Given the description of an element on the screen output the (x, y) to click on. 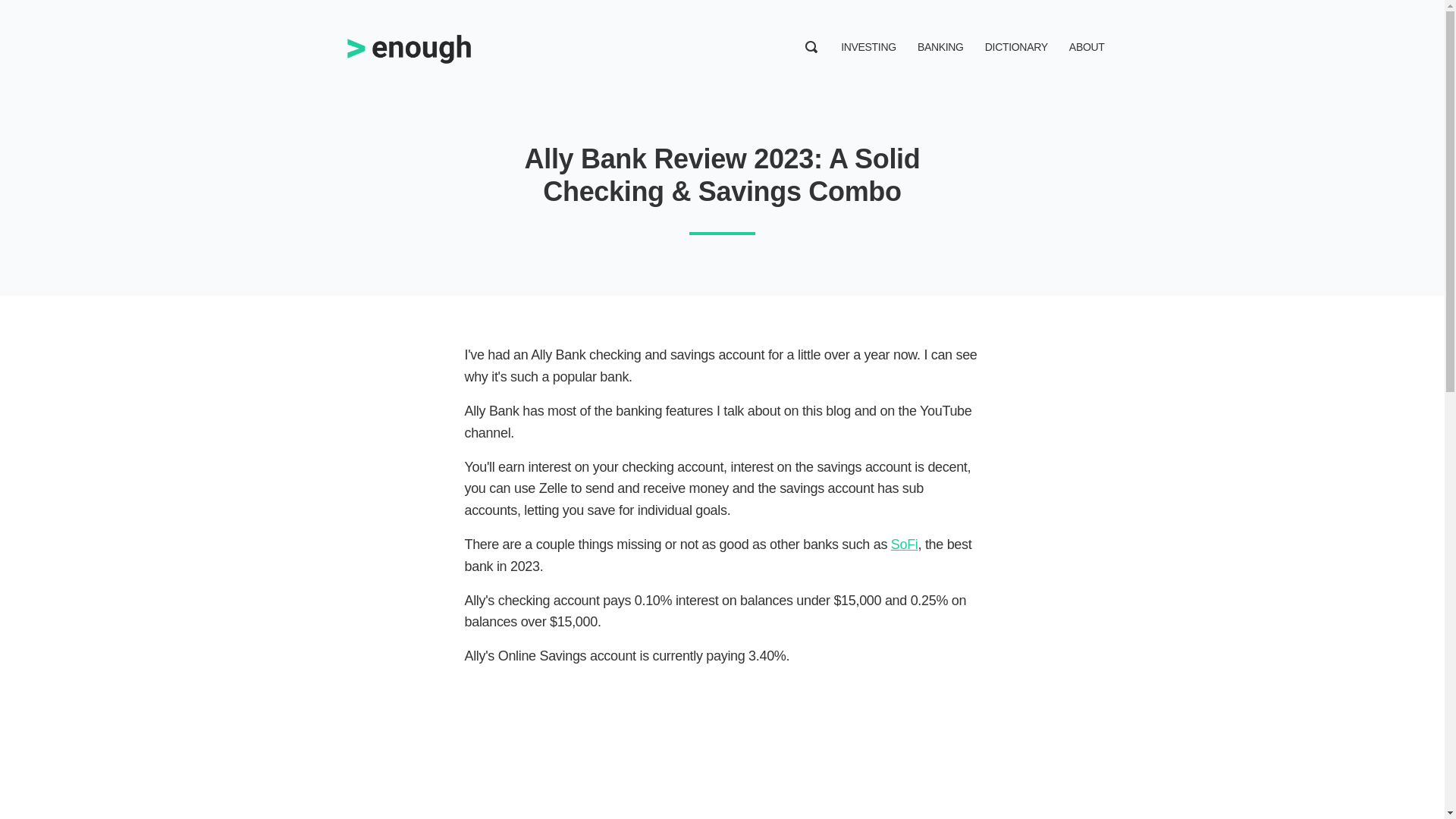
ABOUT (1086, 47)
DICTIONARY (1016, 47)
BANKING (940, 47)
SoFi (904, 544)
Ally Bank Review 2023 (721, 753)
INVESTING (868, 47)
